Given the description of an element on the screen output the (x, y) to click on. 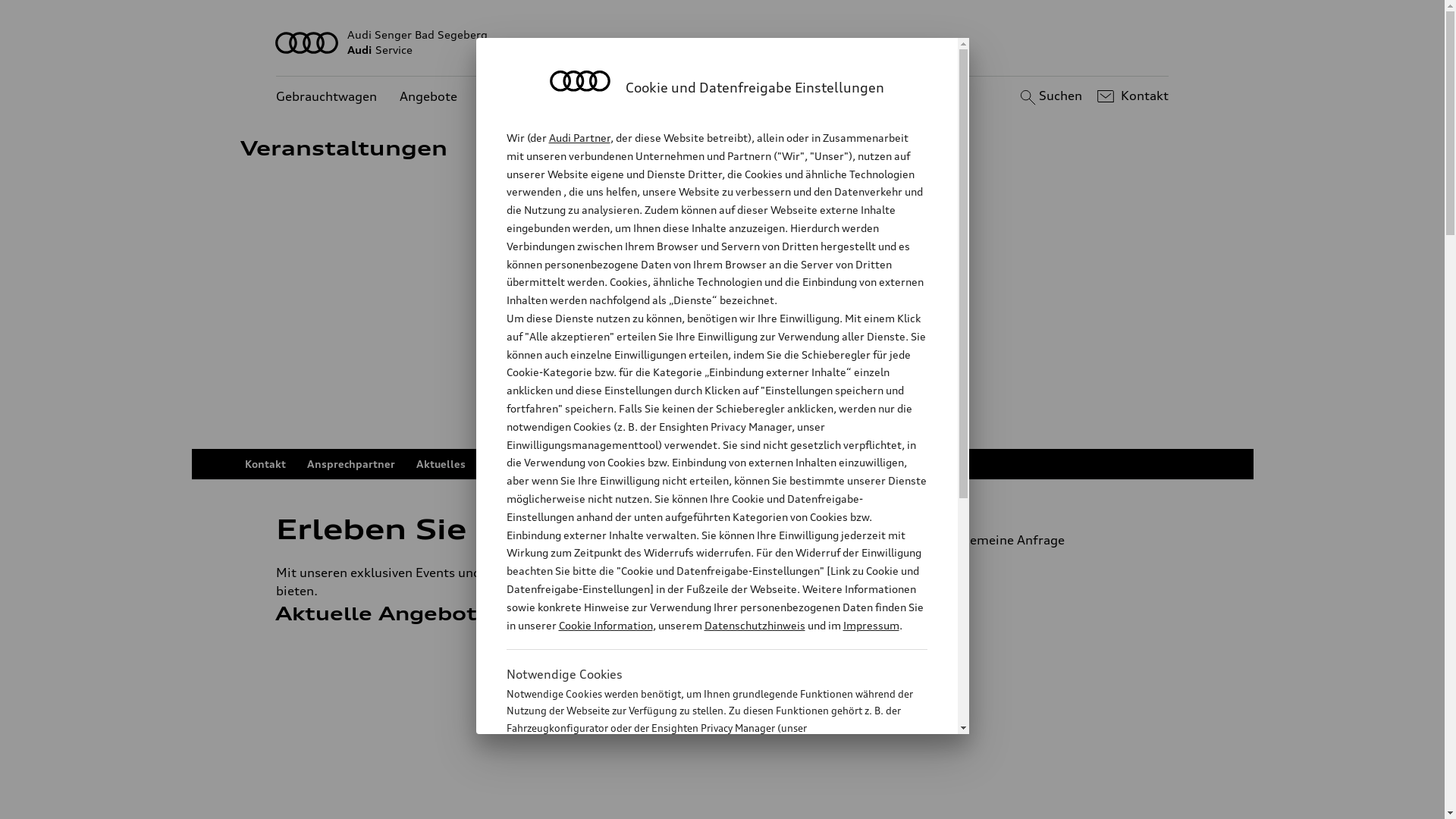
Cookie Information Element type: text (605, 624)
Audi Senger Bad Segeberg
AudiService Element type: text (722, 42)
Veranstaltungen Element type: text (529, 463)
Kontakt Element type: text (264, 463)
Audi Partner Element type: text (579, 137)
Suchen Element type: text (1049, 96)
Cookie Information Element type: text (700, 802)
Online Shop Element type: text (625, 463)
Aktuelles Element type: text (439, 463)
Gebrauchtwagen Element type: text (326, 96)
Angebote Element type: text (428, 96)
Impressum Element type: text (871, 624)
Kontakt Element type: text (1130, 96)
Werkstatt Element type: text (509, 96)
Ansprechpartner Element type: text (349, 463)
Allgemeine Anfrage Element type: text (1044, 539)
Datenschutzhinweis Element type: text (753, 624)
